Given the description of an element on the screen output the (x, y) to click on. 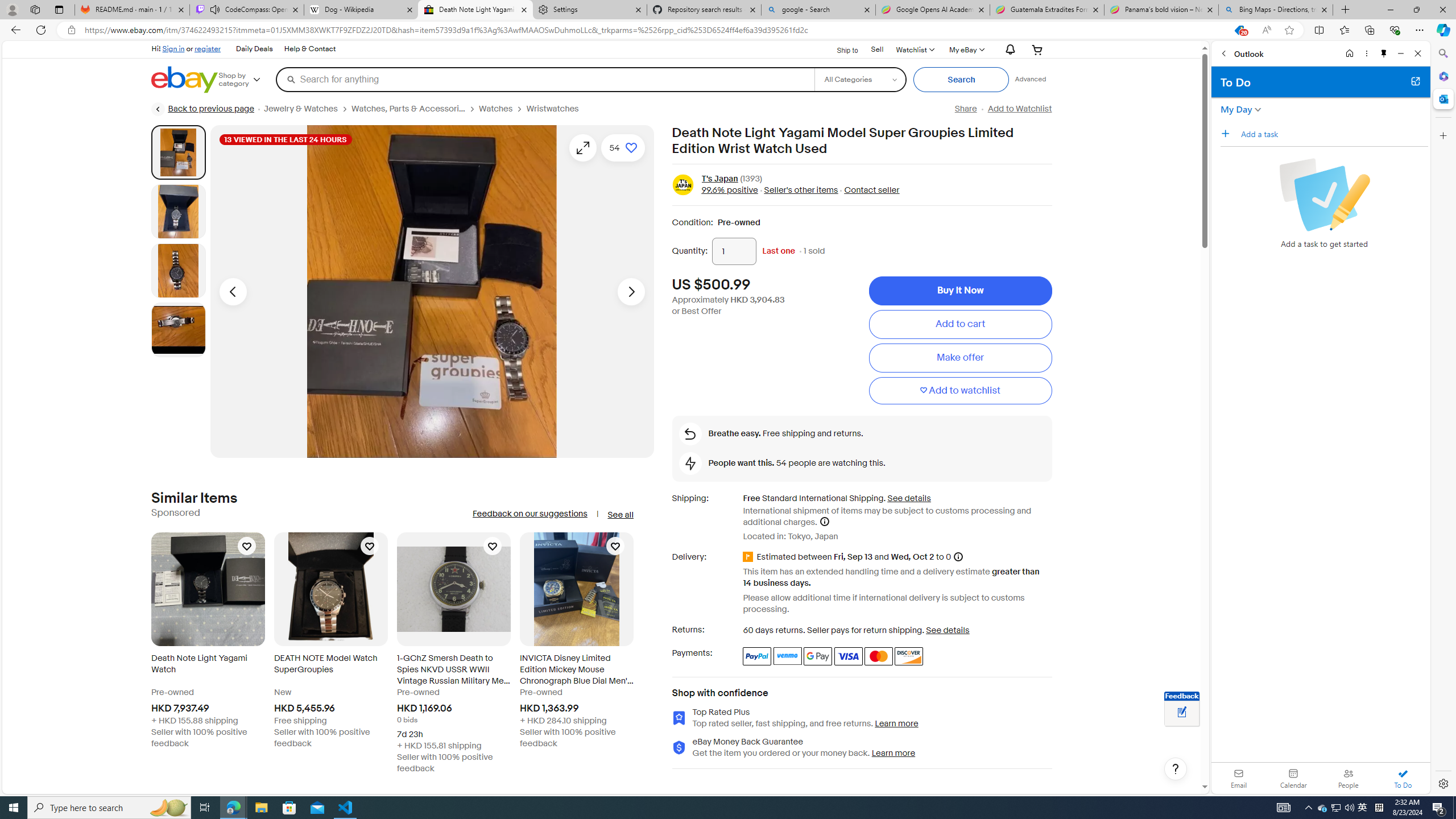
Quantity: (734, 251)
Daily Deals (254, 49)
eBay Home (184, 79)
To Do (1402, 777)
Select a category for search (859, 78)
This site has coupons! Shopping in Microsoft Edge, 20 (1239, 29)
